Given the description of an element on the screen output the (x, y) to click on. 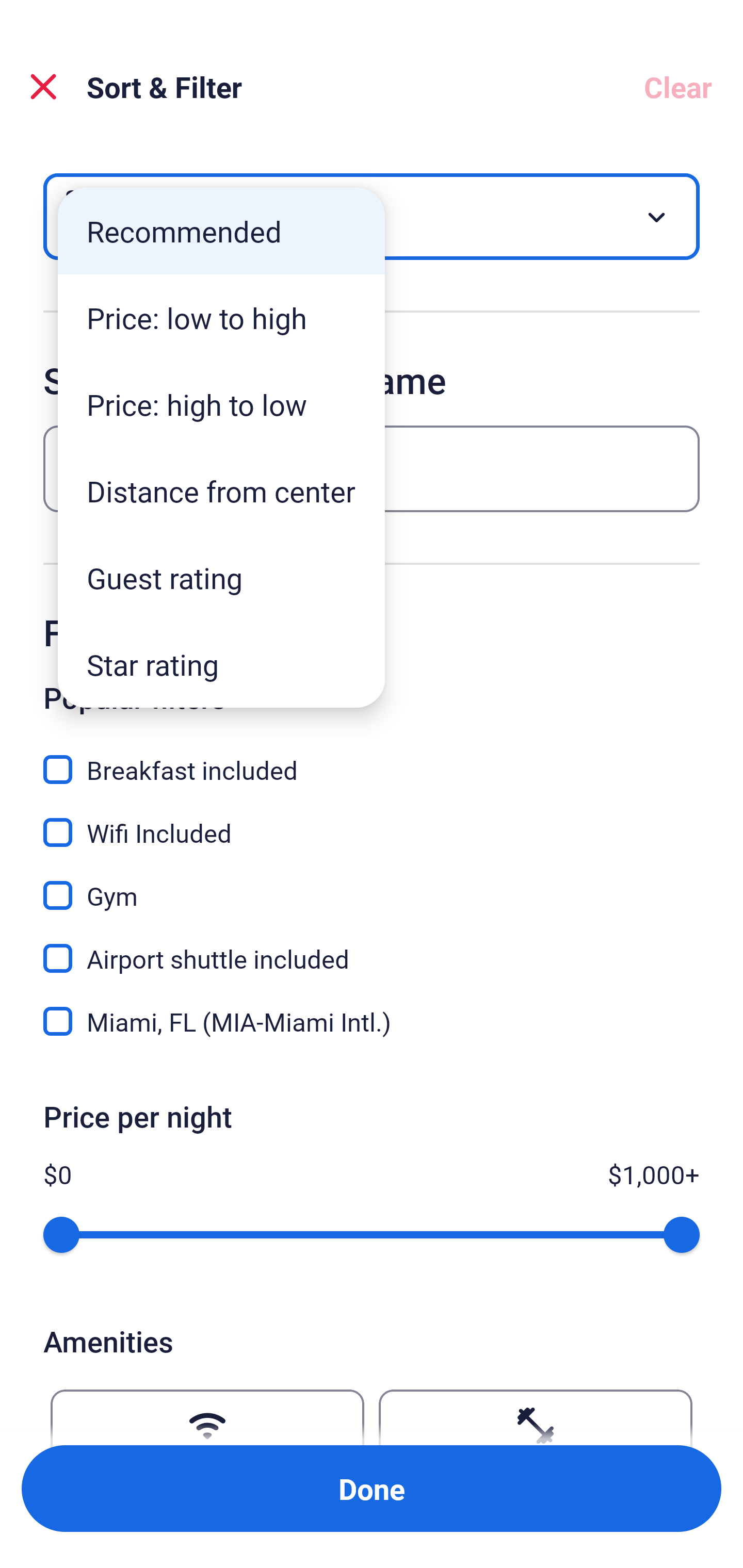
Price: low to high (220, 317)
Price: high to low (220, 404)
Distance from center (220, 491)
Guest rating (220, 577)
Star rating (220, 663)
